Given the description of an element on the screen output the (x, y) to click on. 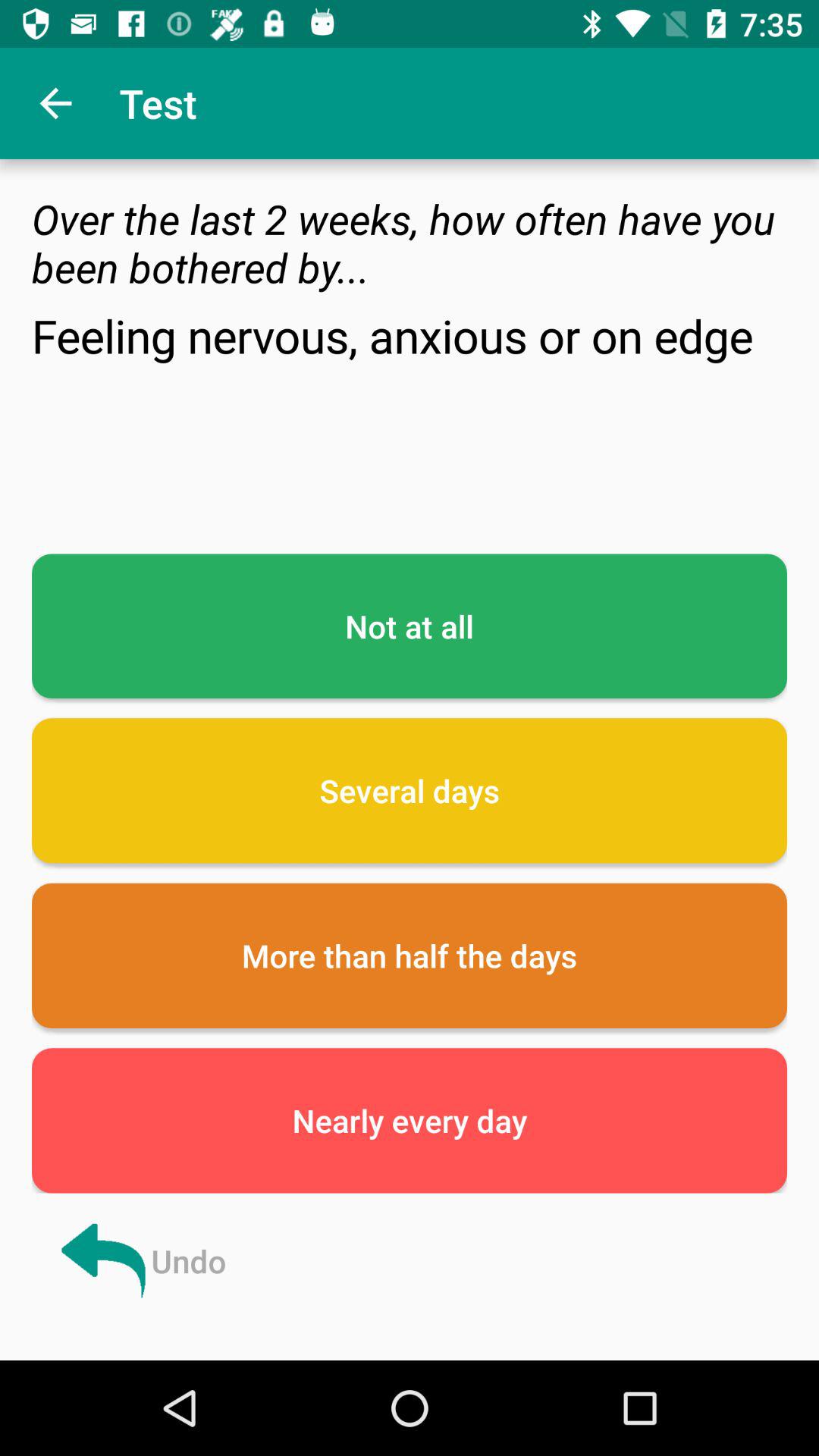
open the item above the over the last (55, 103)
